Given the description of an element on the screen output the (x, y) to click on. 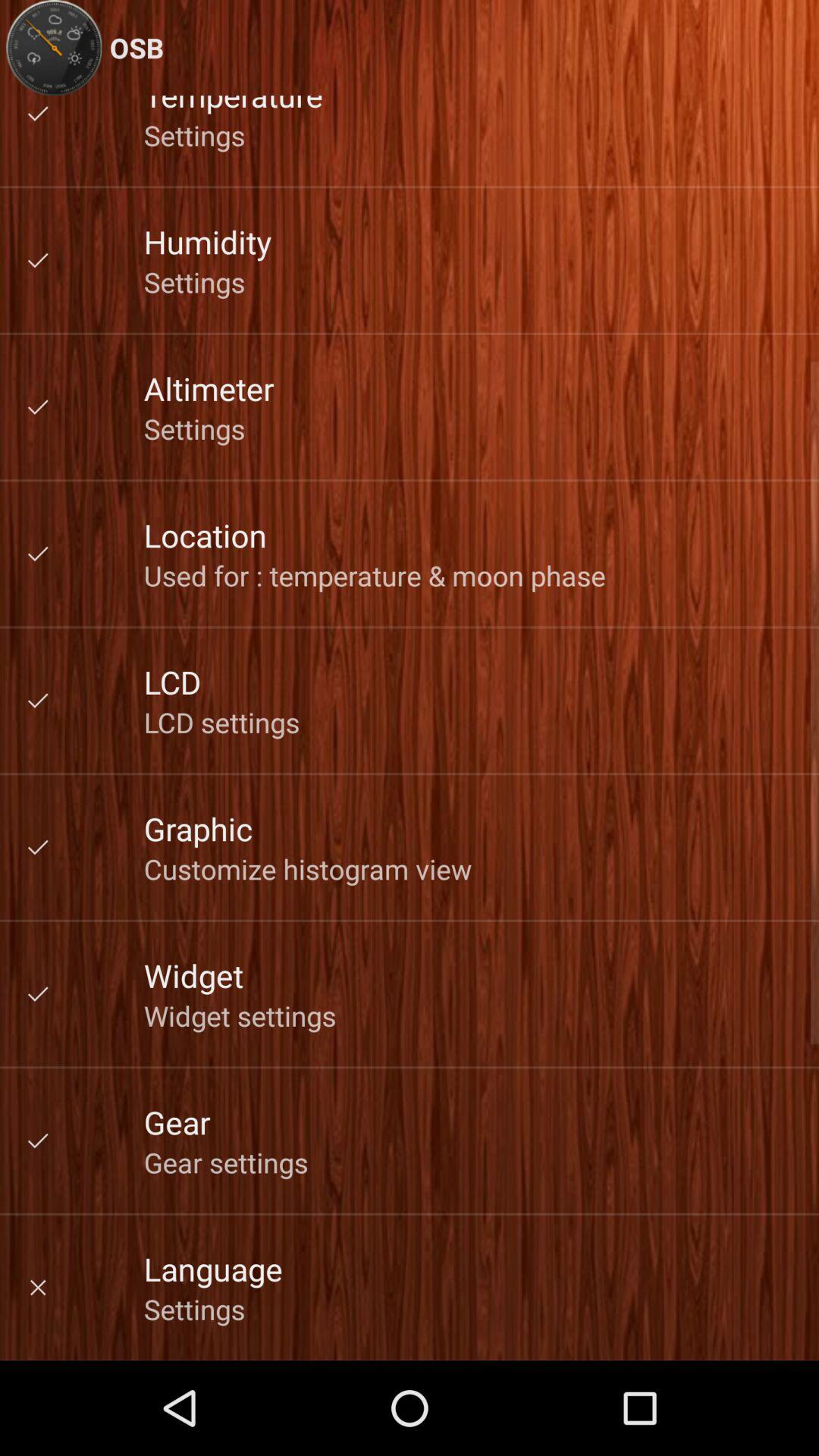
flip until the lcd settings app (221, 722)
